Given the description of an element on the screen output the (x, y) to click on. 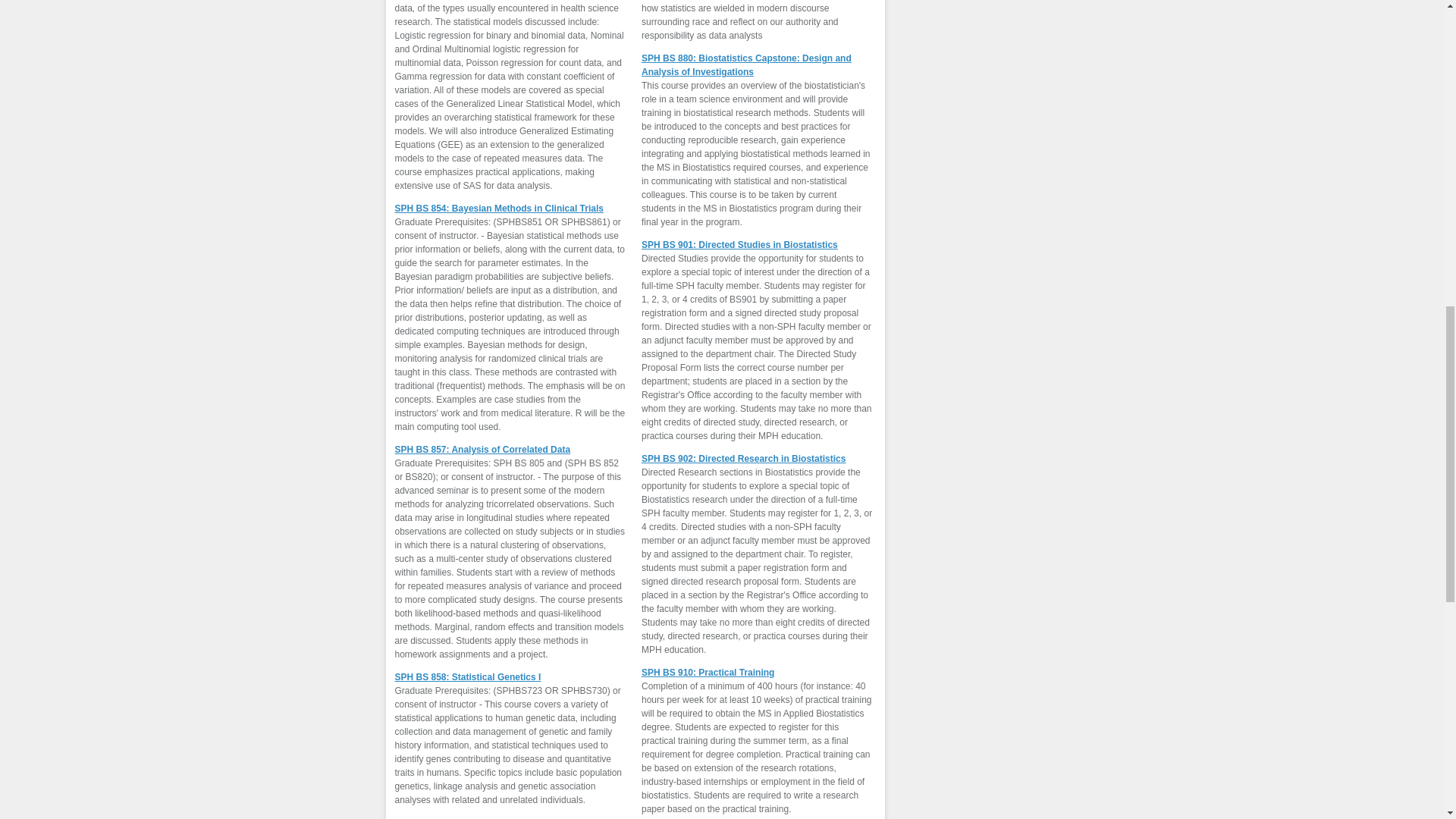
SPH BS 858: Statistical Genetics I (467, 676)
SPH BS 857: Analysis of Correlated Data (482, 449)
SPH BS 901: Directed Studies in Biostatistics (740, 244)
SPH BS 854: Bayesian Methods in Clinical Trials (498, 208)
